Given the description of an element on the screen output the (x, y) to click on. 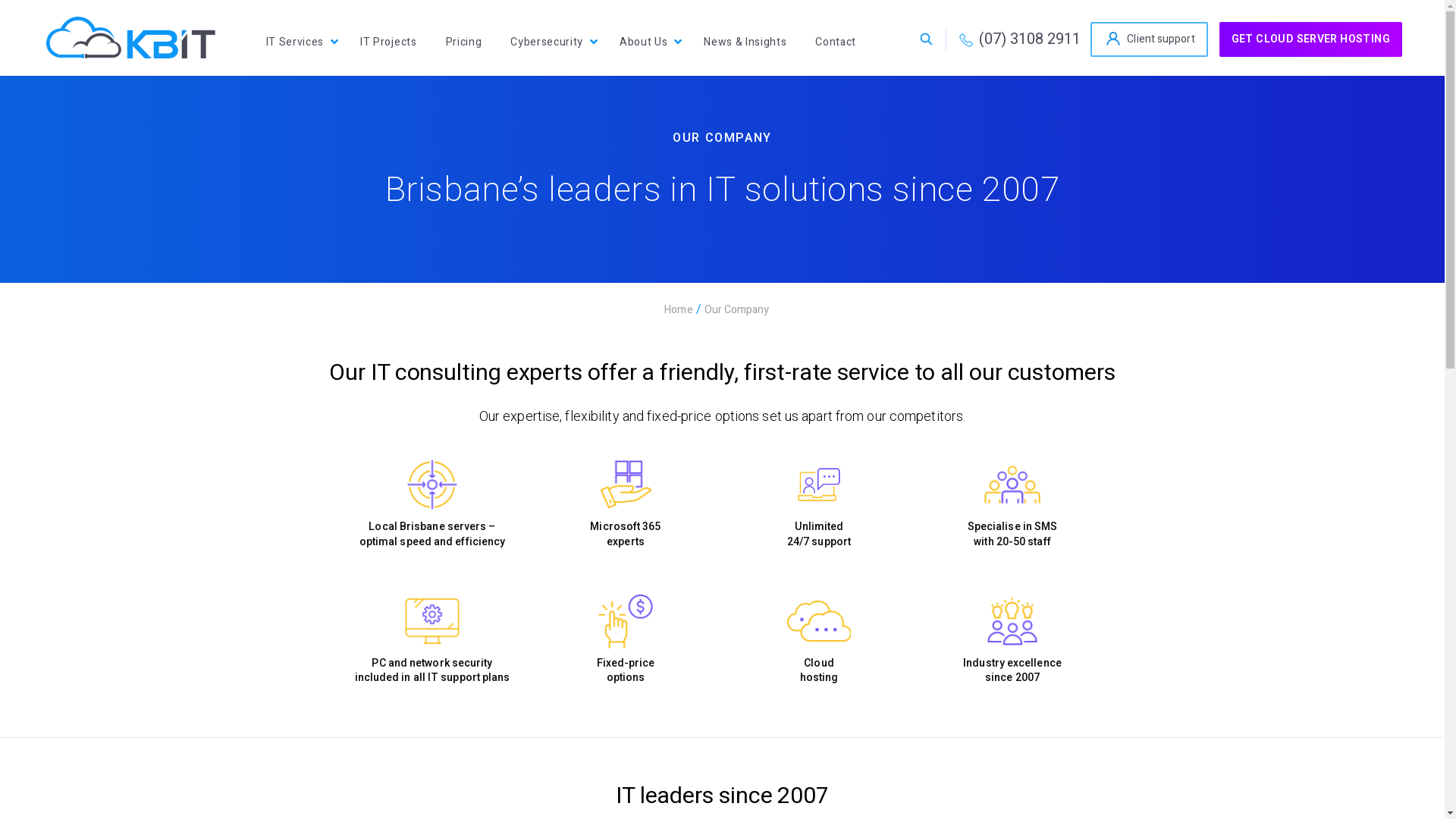
GET CLOUD SERVER HOSTING Element type: text (1310, 38)
(07) 3108 2911 Element type: text (1018, 39)
News & Insights Element type: text (744, 42)
IT Services Element type: text (294, 42)
Cybersecurity Element type: text (546, 42)
Contact Element type: text (835, 42)
IT Projects Element type: text (388, 42)
Home Element type: text (678, 309)
Pricing Element type: text (463, 42)
Client support Element type: text (1148, 38)
About Us Element type: text (643, 42)
